Given the description of an element on the screen output the (x, y) to click on. 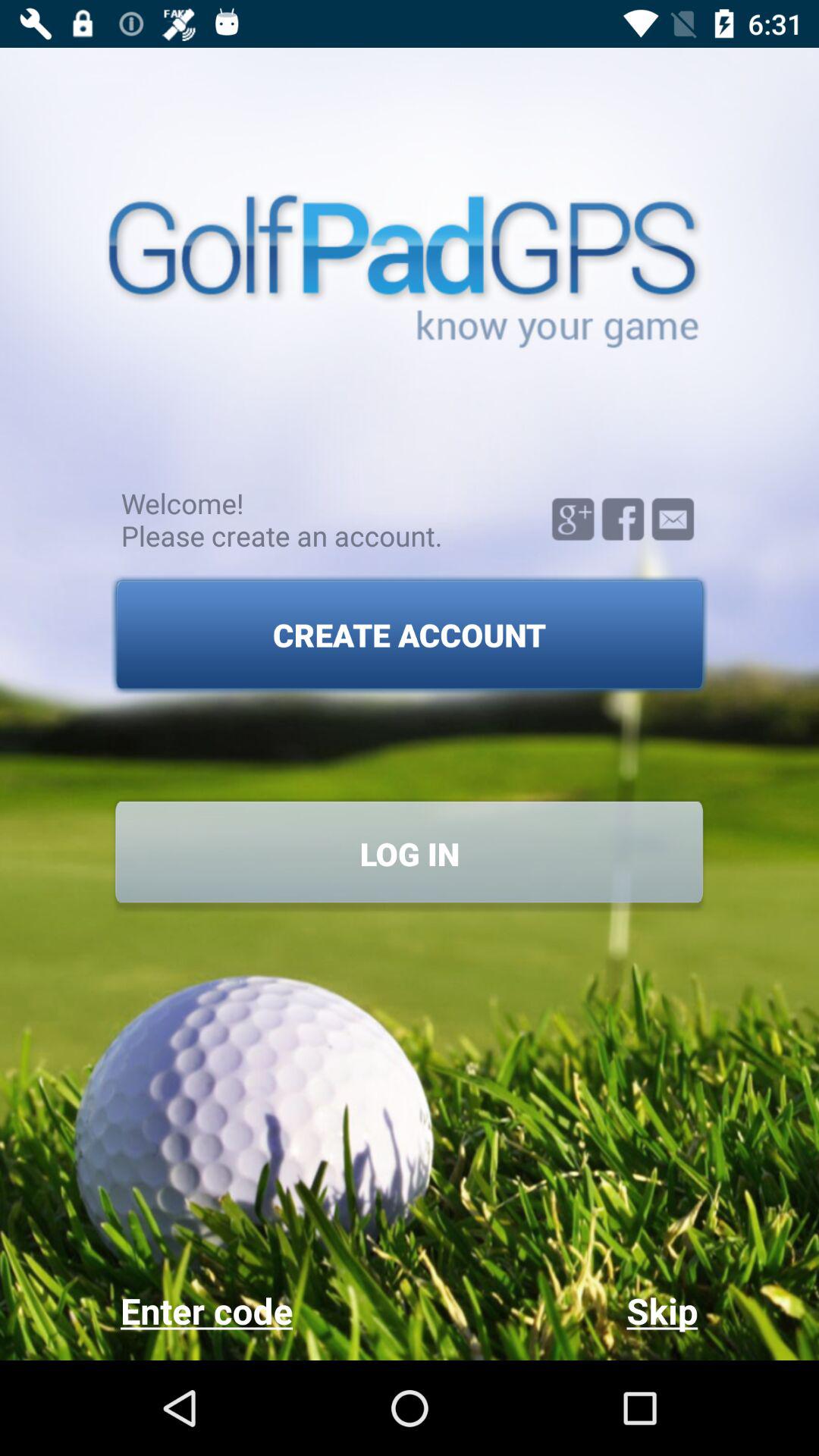
tap item above the skip item (409, 853)
